Given the description of an element on the screen output the (x, y) to click on. 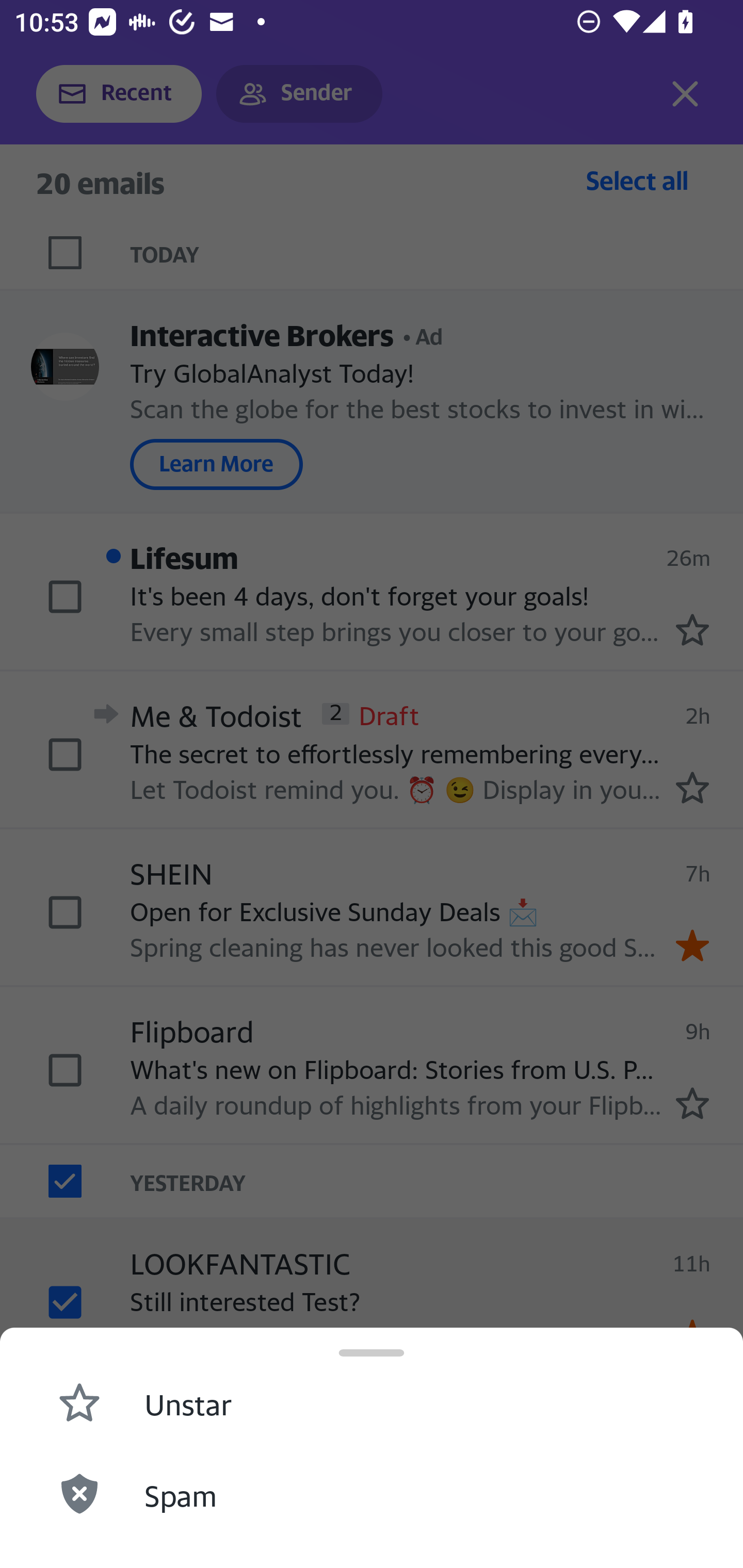
Unstar (371, 1401)
Spam (371, 1493)
